Given the description of an element on the screen output the (x, y) to click on. 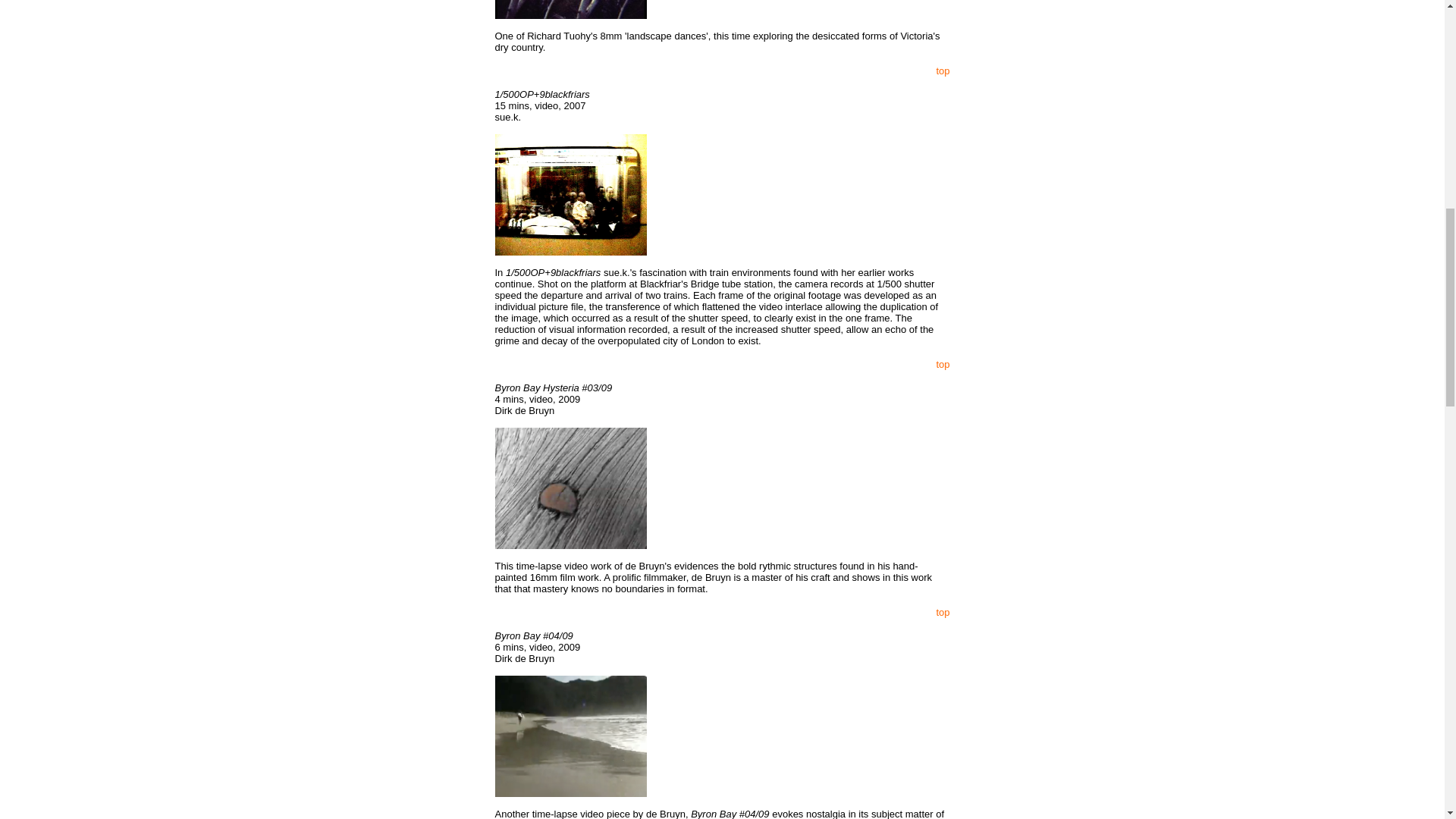
top (942, 612)
top (942, 364)
top (942, 70)
